Given the description of an element on the screen output the (x, y) to click on. 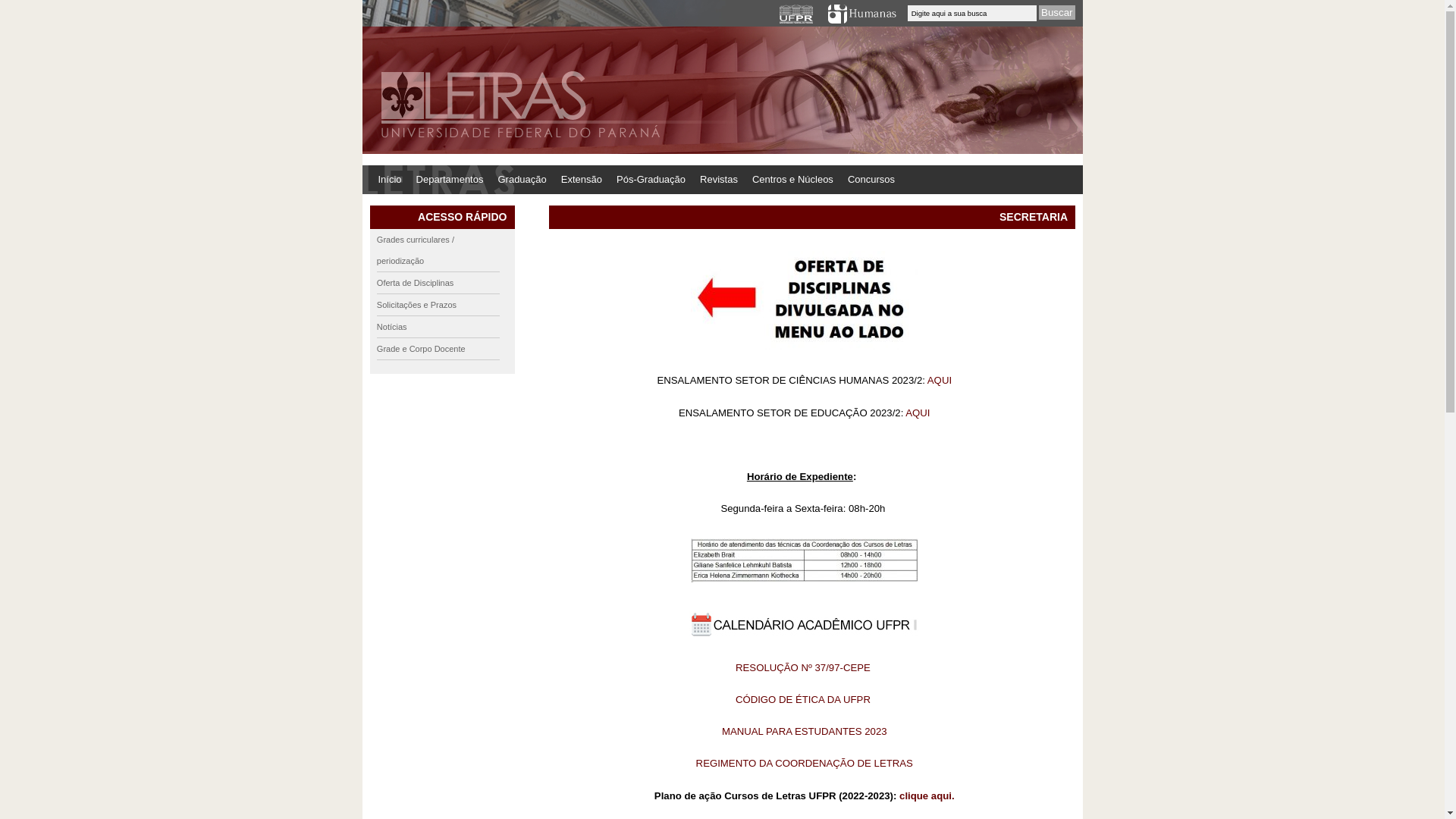
Revistas Element type: text (718, 179)
Grade e Corpo Docente Element type: text (437, 349)
clique aqui. Element type: text (926, 794)
Departamentos Element type: text (449, 179)
Buscar Element type: text (1056, 12)
Concursos Element type: text (871, 179)
Oferta de Disciplinas Element type: text (437, 283)
AQUI Element type: text (917, 411)
MANUAL PARA ESTUDANTES 2023 Element type: text (804, 729)
AQUI Element type: text (939, 378)
